Given the description of an element on the screen output the (x, y) to click on. 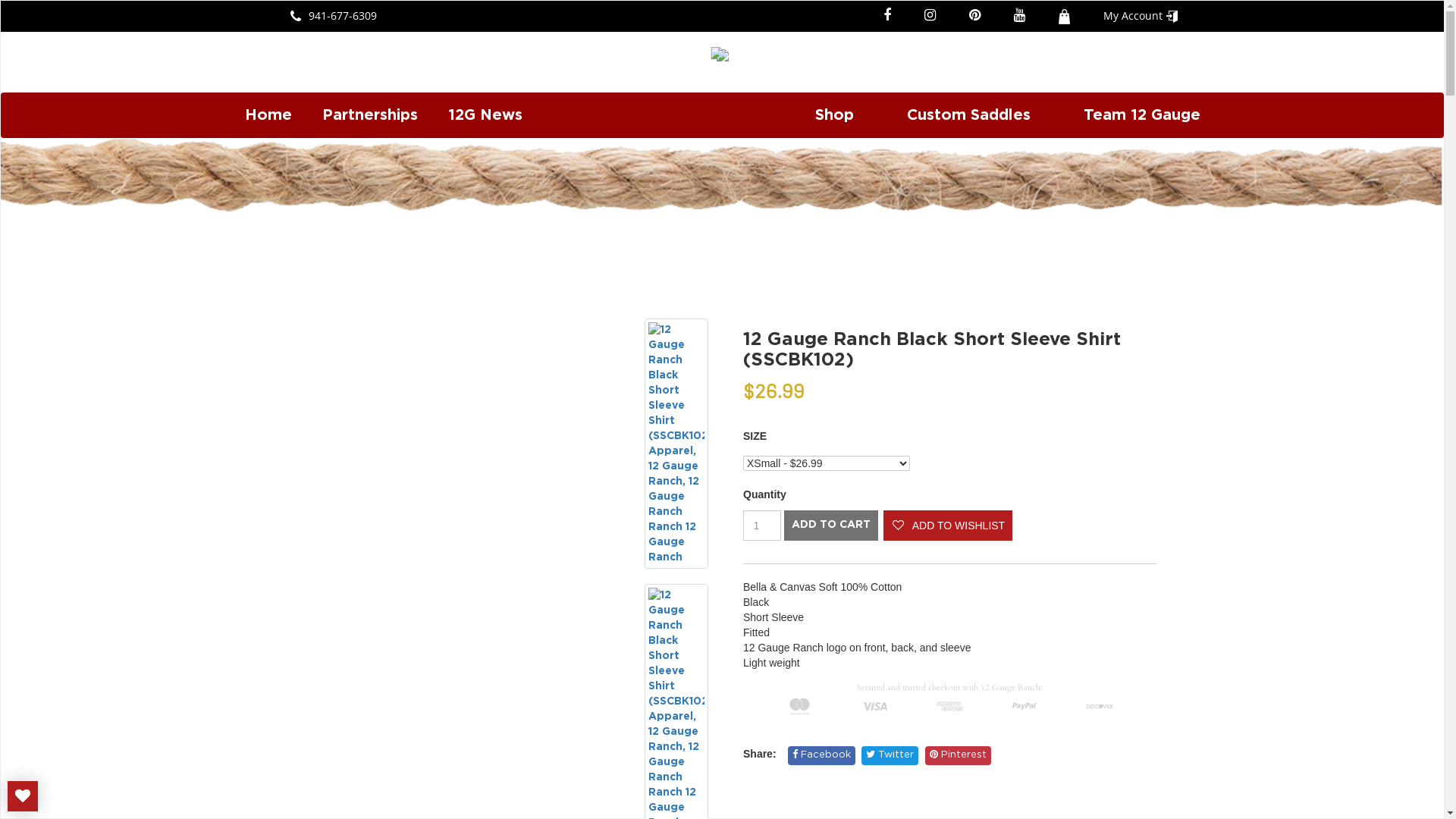
Facebook Element type: text (821, 755)
Custom Saddles Element type: text (968, 114)
Team 12 Gauge Element type: text (1140, 114)
Twitter Element type: text (889, 755)
941-677-6309 Element type: text (332, 15)
Shop Element type: text (833, 114)
12G News Element type: text (484, 114)
My Account Element type: text (1139, 15)
Add to Cart Element type: text (831, 525)
MY WISHLIST Element type: text (22, 796)
Partnerships Element type: text (369, 114)
ADD TO WISHLIST Element type: text (947, 525)
Home Element type: text (267, 114)
Pinterest Element type: text (958, 755)
